Given the description of an element on the screen output the (x, y) to click on. 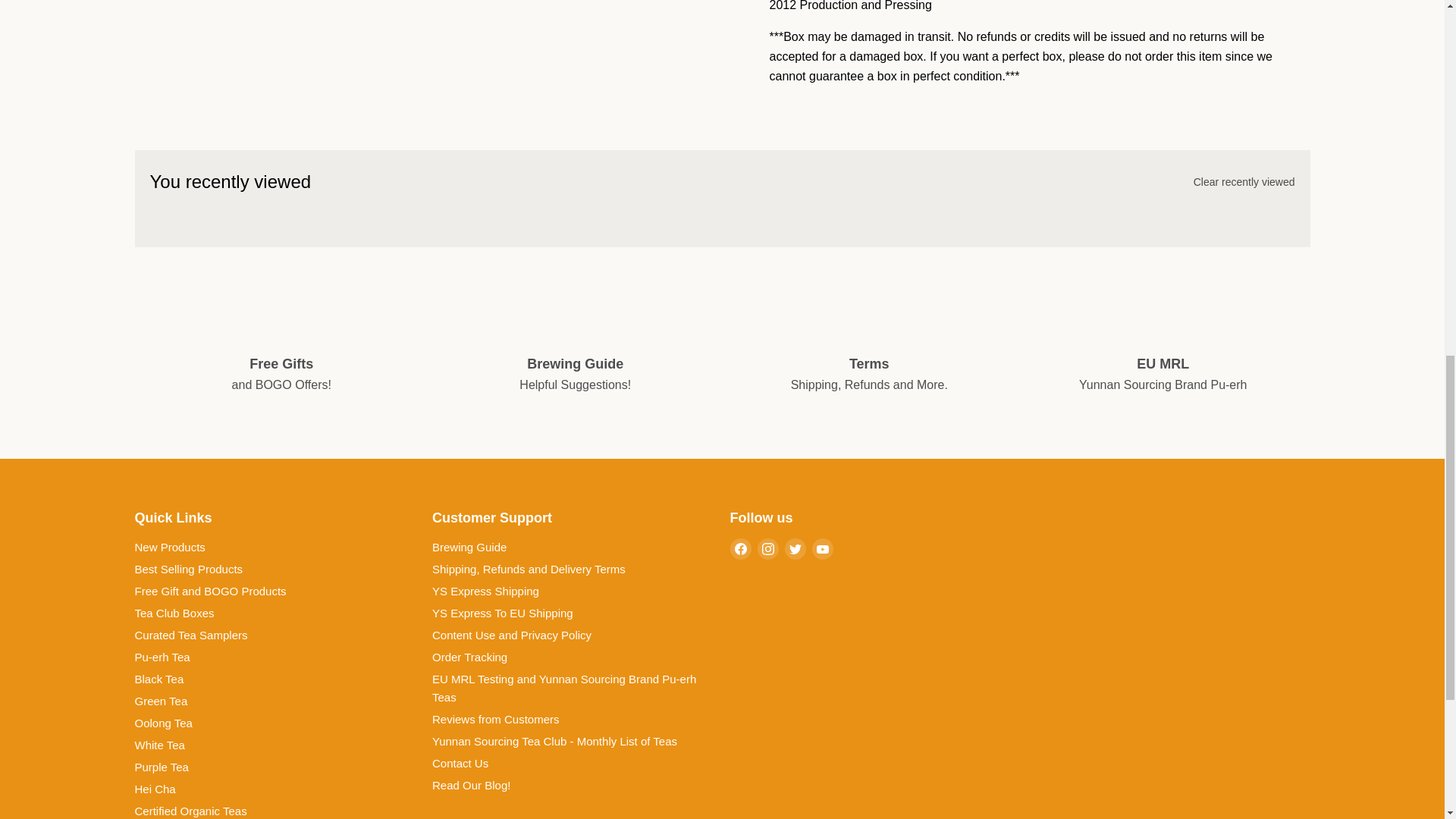
Instagram (767, 548)
Twitter (794, 548)
Facebook (740, 548)
YouTube (821, 548)
